Given the description of an element on the screen output the (x, y) to click on. 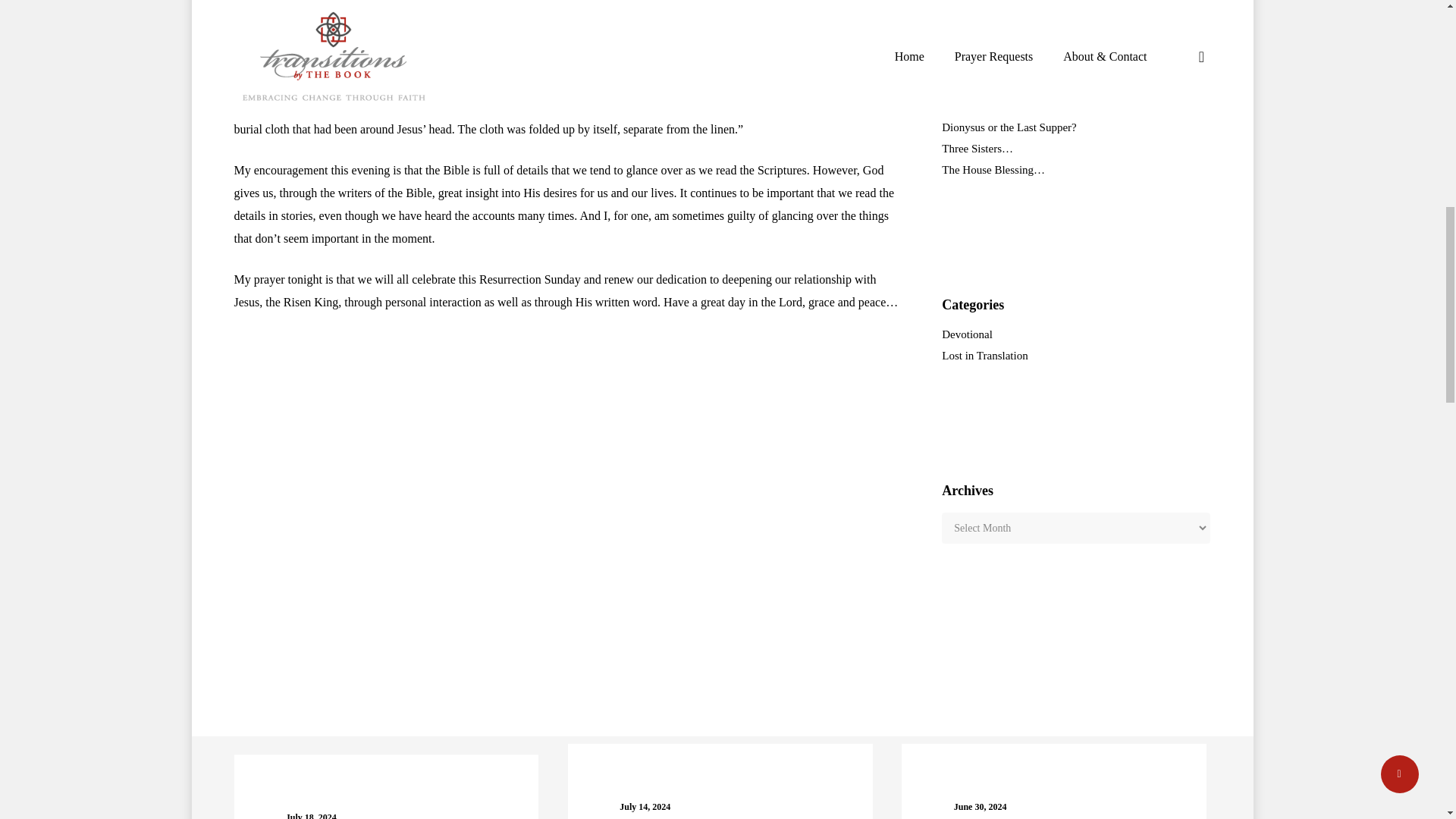
Devotional (1075, 334)
Dionysus or the Last Supper? (1075, 127)
Lost in Translation (1075, 355)
The Hug! (1075, 84)
